Given the description of an element on the screen output the (x, y) to click on. 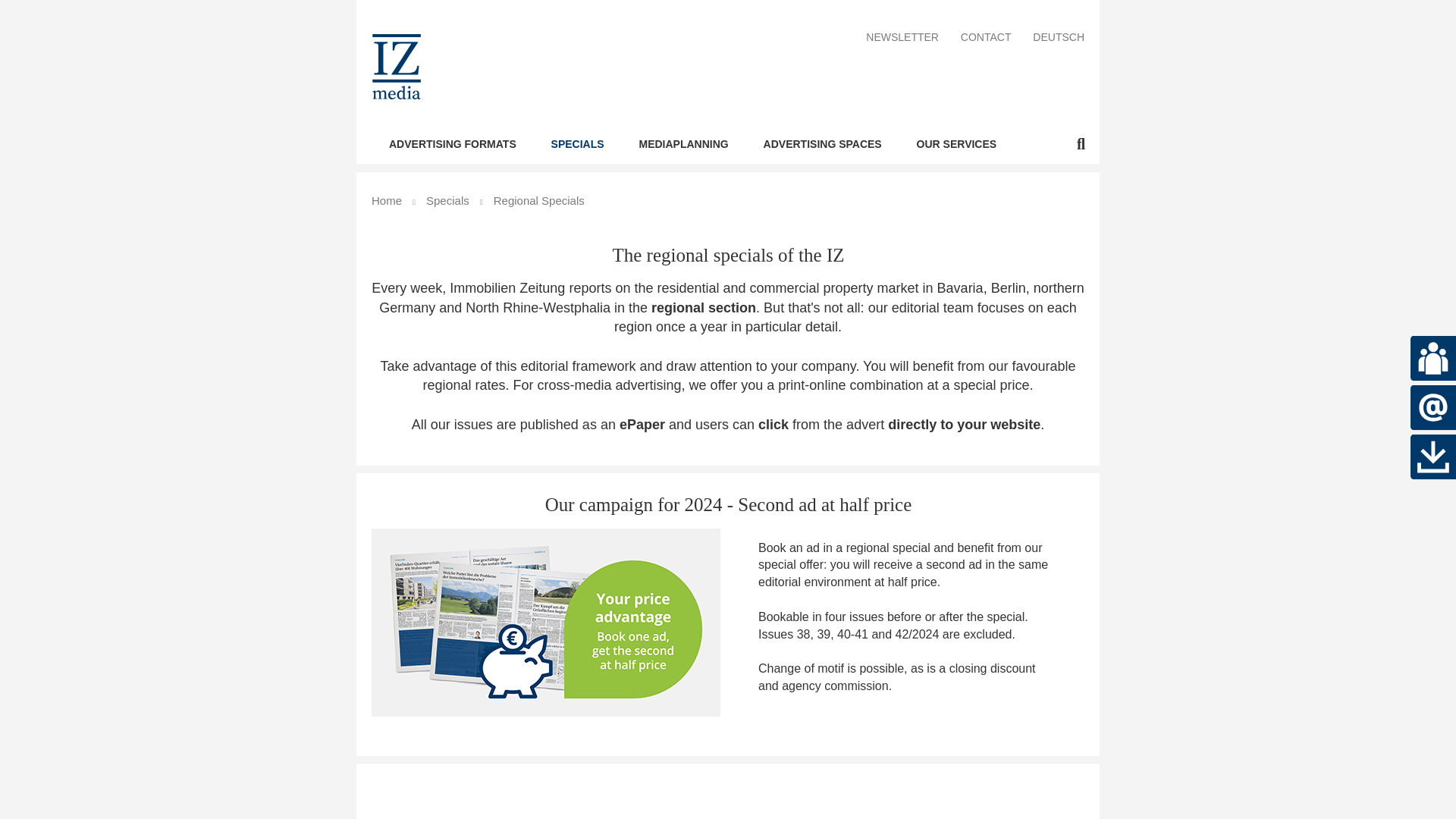
SPECIALS (577, 142)
DEUTSCH (1058, 38)
CONTACT (985, 38)
MEDIAPLANNING (683, 142)
OUR SERVICES (957, 142)
NEWSLETTER (902, 38)
ADVERTISING SPACES (822, 142)
ADVERTISING FORMATS (452, 142)
